Given the description of an element on the screen output the (x, y) to click on. 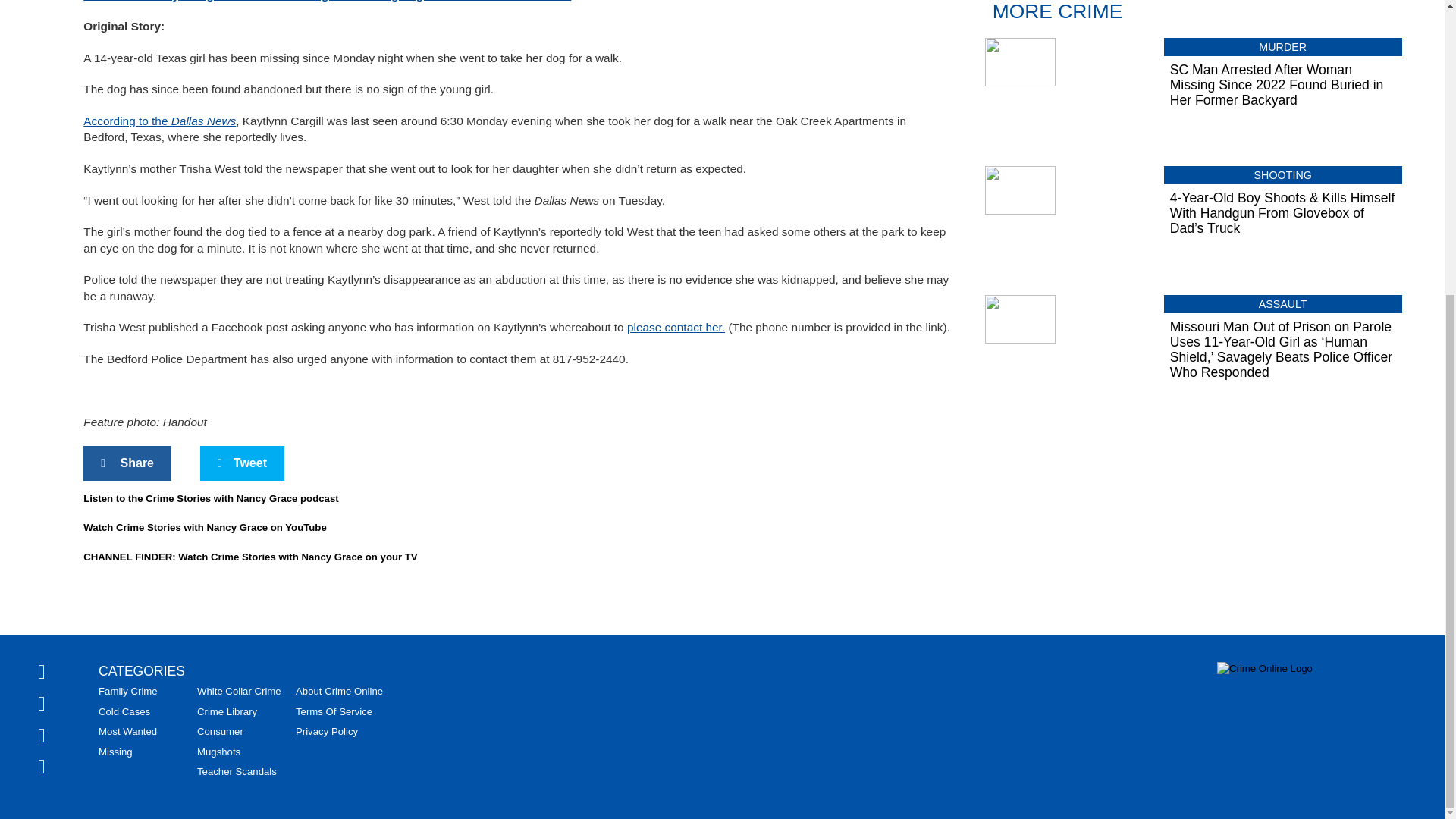
please contact her. (676, 327)
Listen to the Crime Stories with Nancy Grace podcast (209, 498)
According to the Dallas News (158, 120)
Share (126, 462)
Watch Crime Stories with Nancy Grace on YouTube (204, 527)
Tweet (241, 462)
